Given the description of an element on the screen output the (x, y) to click on. 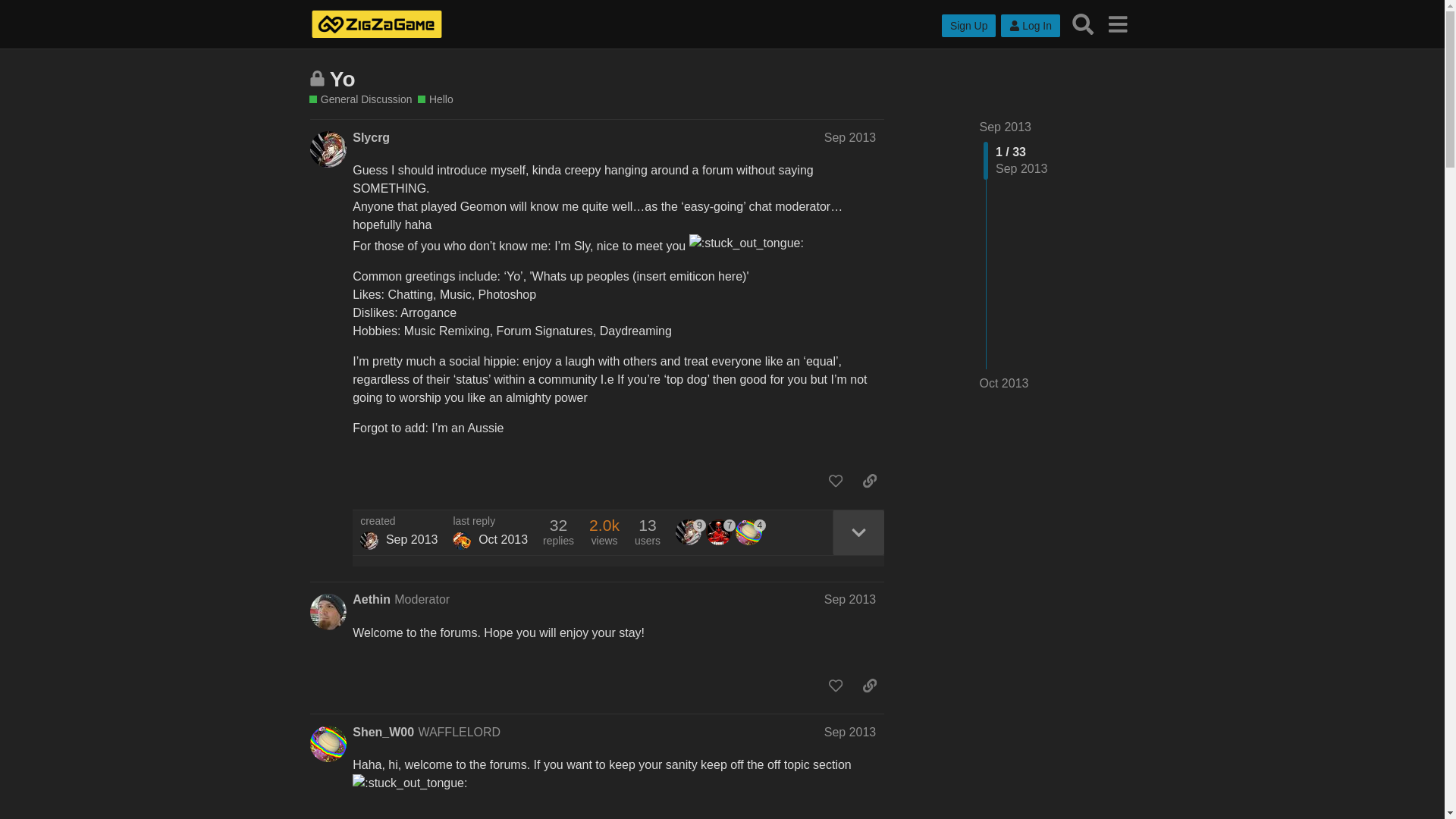
Sep 2013 (850, 599)
like this post (835, 480)
7 (721, 532)
last reply (489, 521)
Sep 2013 (1005, 126)
copy a link to this post to clipboard (869, 480)
Post date (850, 137)
Jump to the last post (1004, 382)
4 (750, 532)
Sep 2013 (850, 731)
Aethin (371, 599)
Log In (1030, 25)
menu (1117, 23)
expand topic details (857, 532)
Hello (434, 99)
